Given the description of an element on the screen output the (x, y) to click on. 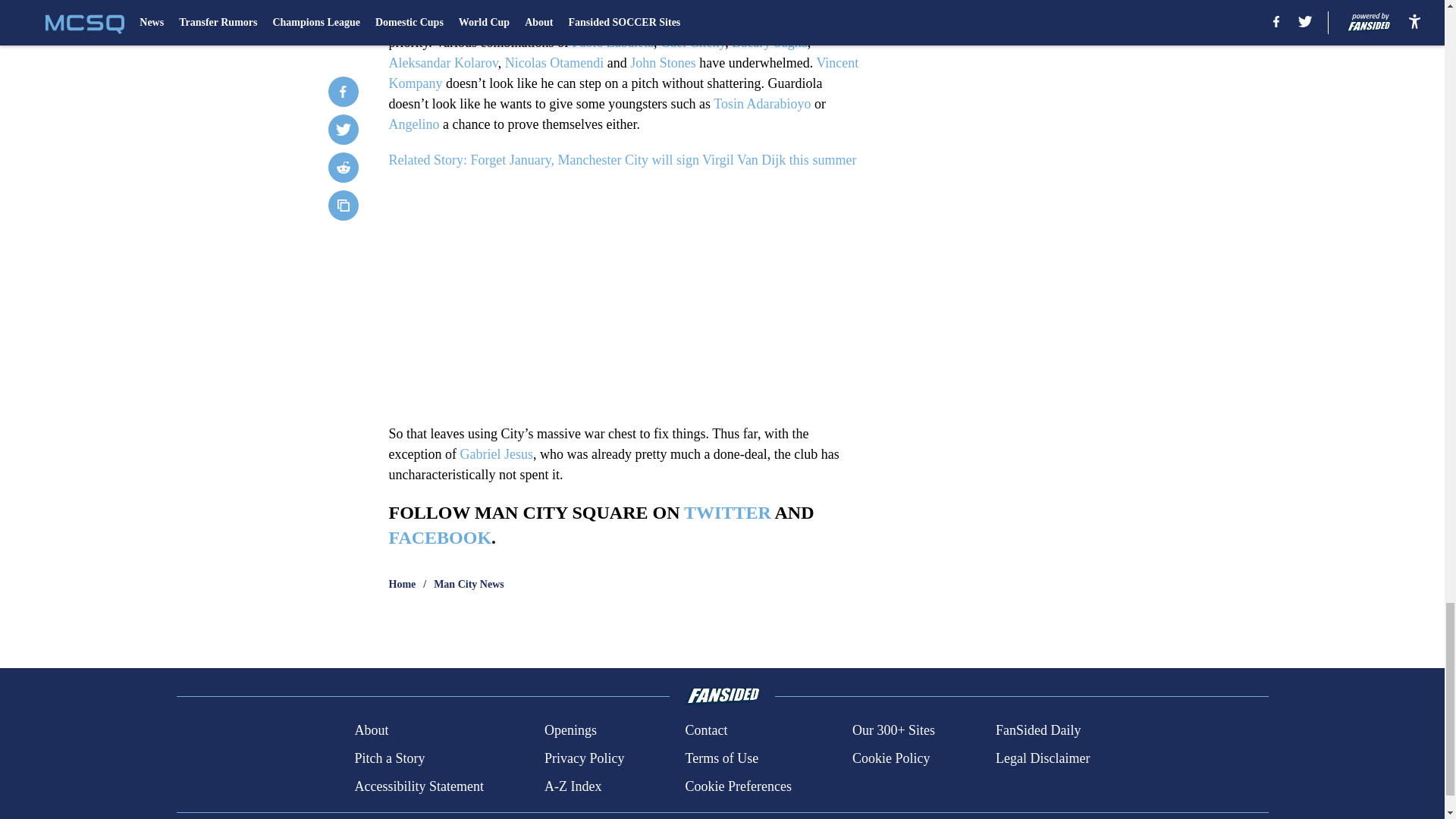
Vincent Kompany (623, 72)
Angelino (413, 124)
Tosin Adarabioyo (761, 103)
Nicolas Otamendi (554, 62)
Gabriel Jesus (496, 453)
Pablo Zabaleta (612, 42)
Bacary Sagna (769, 42)
Aleksandar Kolarov (442, 62)
John Stones (662, 62)
Gael Clichy (693, 42)
